Given the description of an element on the screen output the (x, y) to click on. 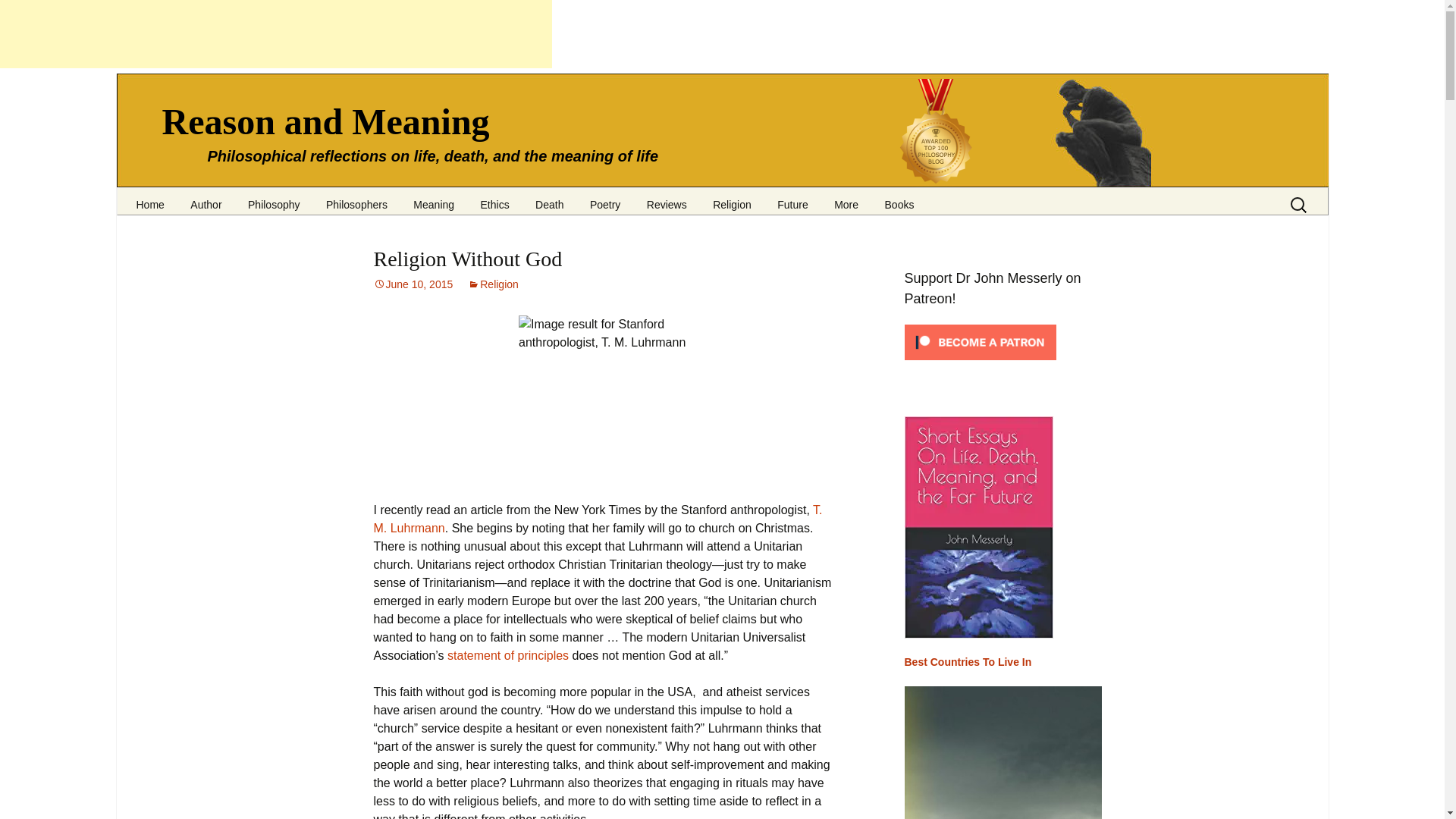
Author (205, 199)
Permalink to Religion Without God (412, 284)
Home (148, 199)
How To Help (254, 221)
